Given the description of an element on the screen output the (x, y) to click on. 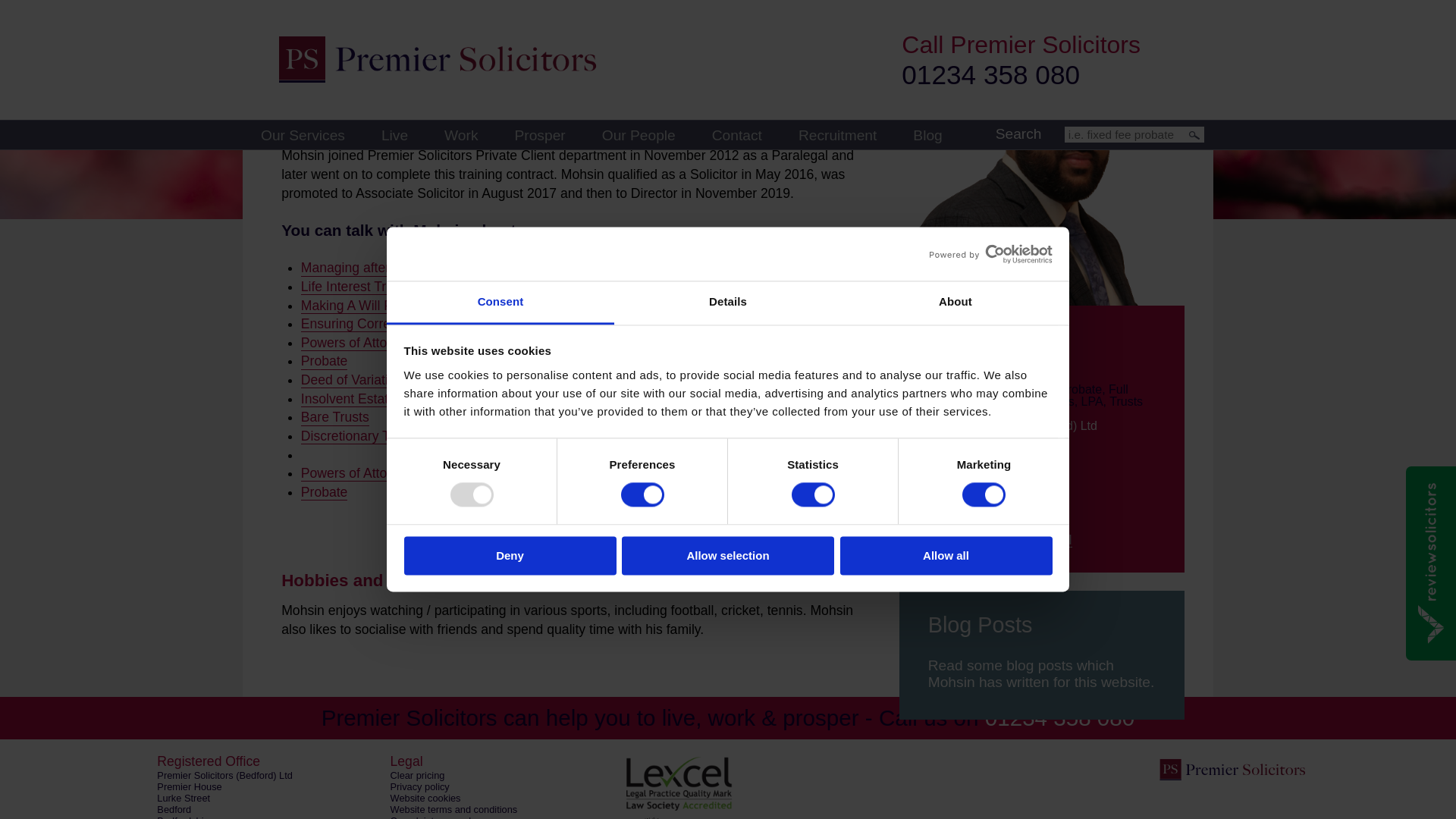
Life Interest Trusts (355, 286)
Ensuring Correct Will Contents (392, 324)
Managing after a death (369, 268)
Allow selection (727, 181)
Deny (509, 181)
Allow all (946, 181)
Making A Will For Your Family (389, 305)
